Given the description of an element on the screen output the (x, y) to click on. 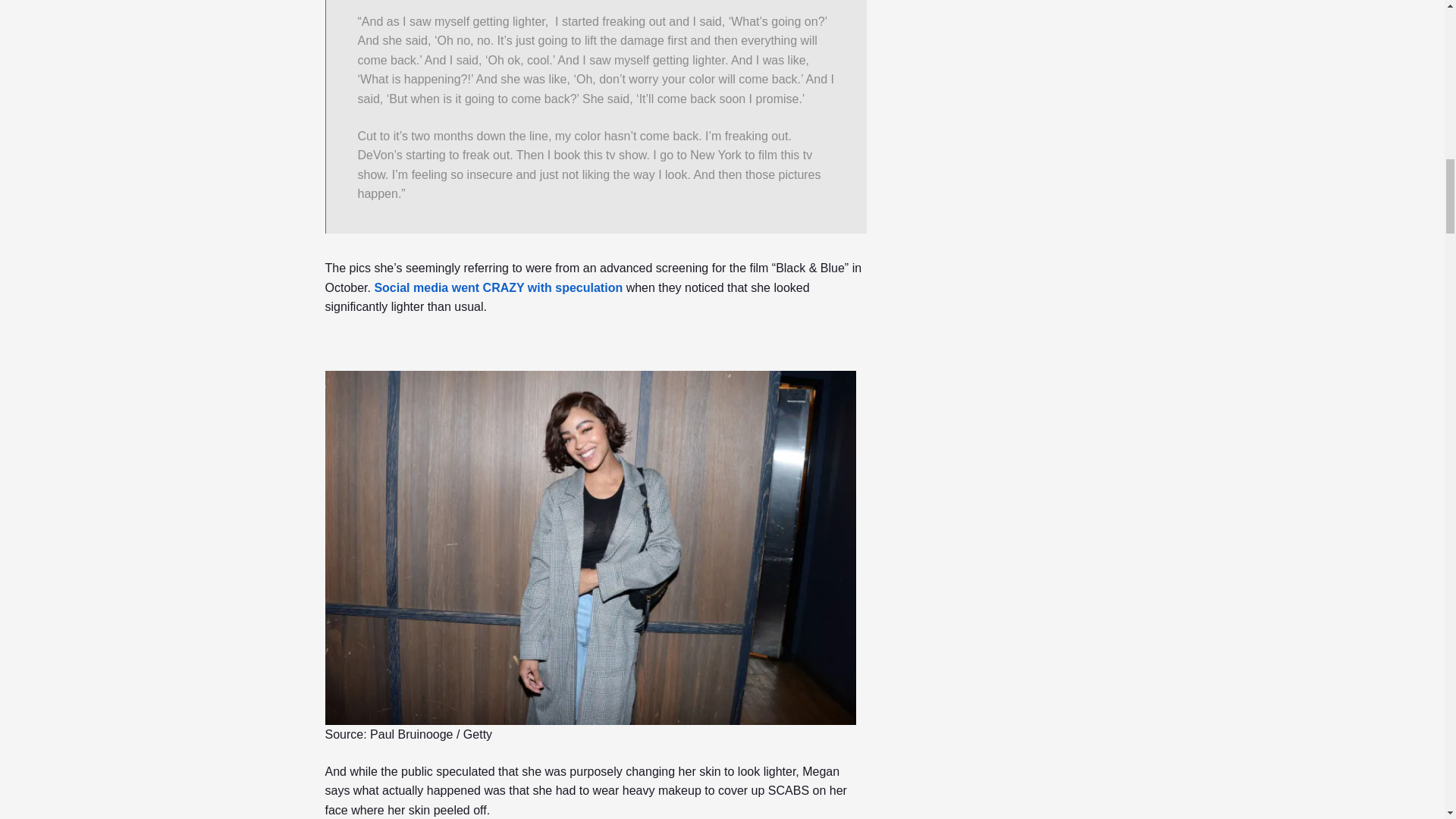
Social media went CRAZY with speculation (498, 287)
